Given the description of an element on the screen output the (x, y) to click on. 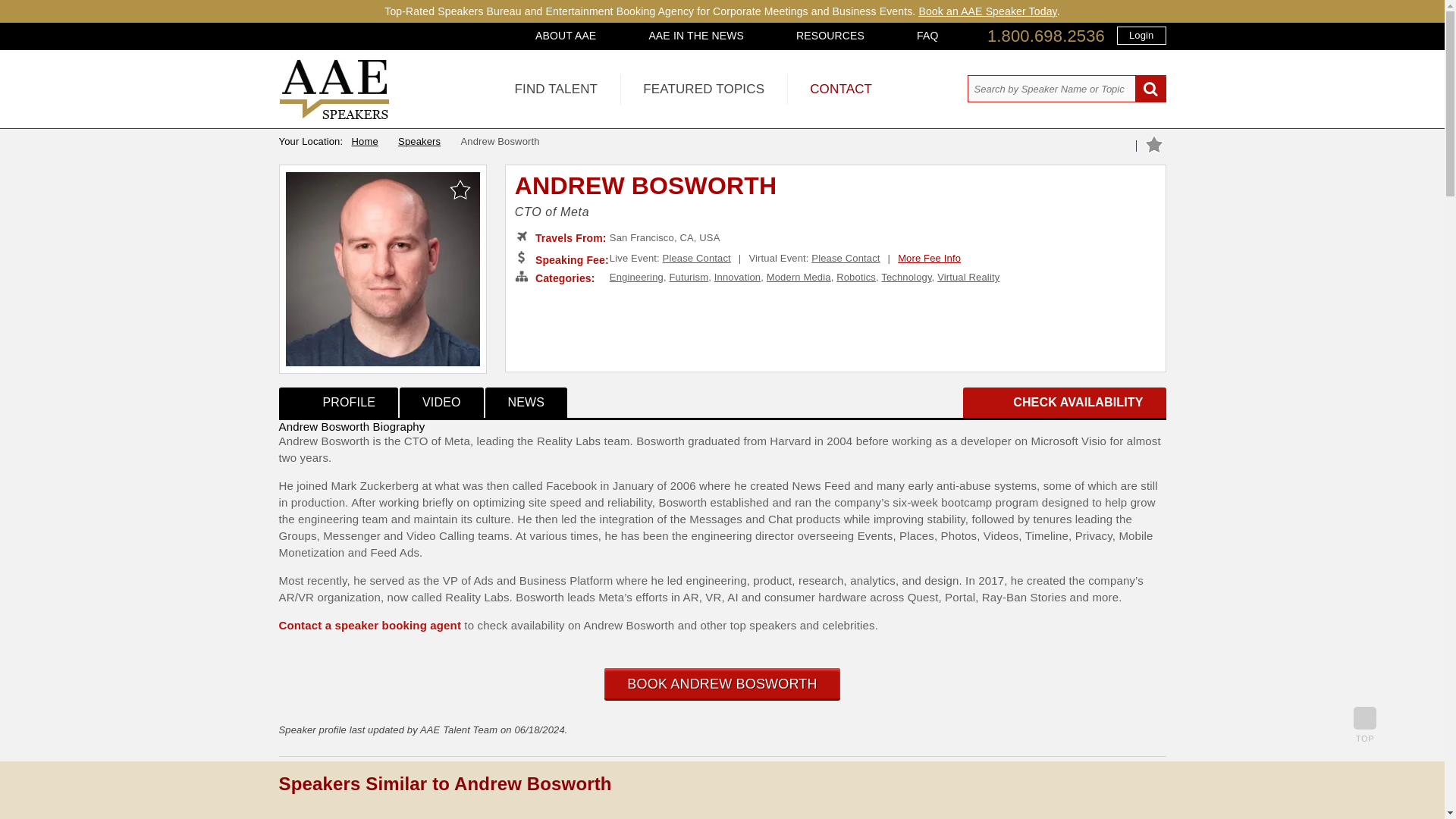
1.800.698.2536 (1046, 35)
All American Speakers Bureau and Celebrity Booking Agency (334, 115)
ABOUT AAE (565, 34)
AAE IN THE NEWS (695, 34)
Login (1141, 35)
Book an AAE Speaker Today (987, 10)
RESOURCES (829, 34)
FAQ (927, 34)
Search (1150, 89)
